Given the description of an element on the screen output the (x, y) to click on. 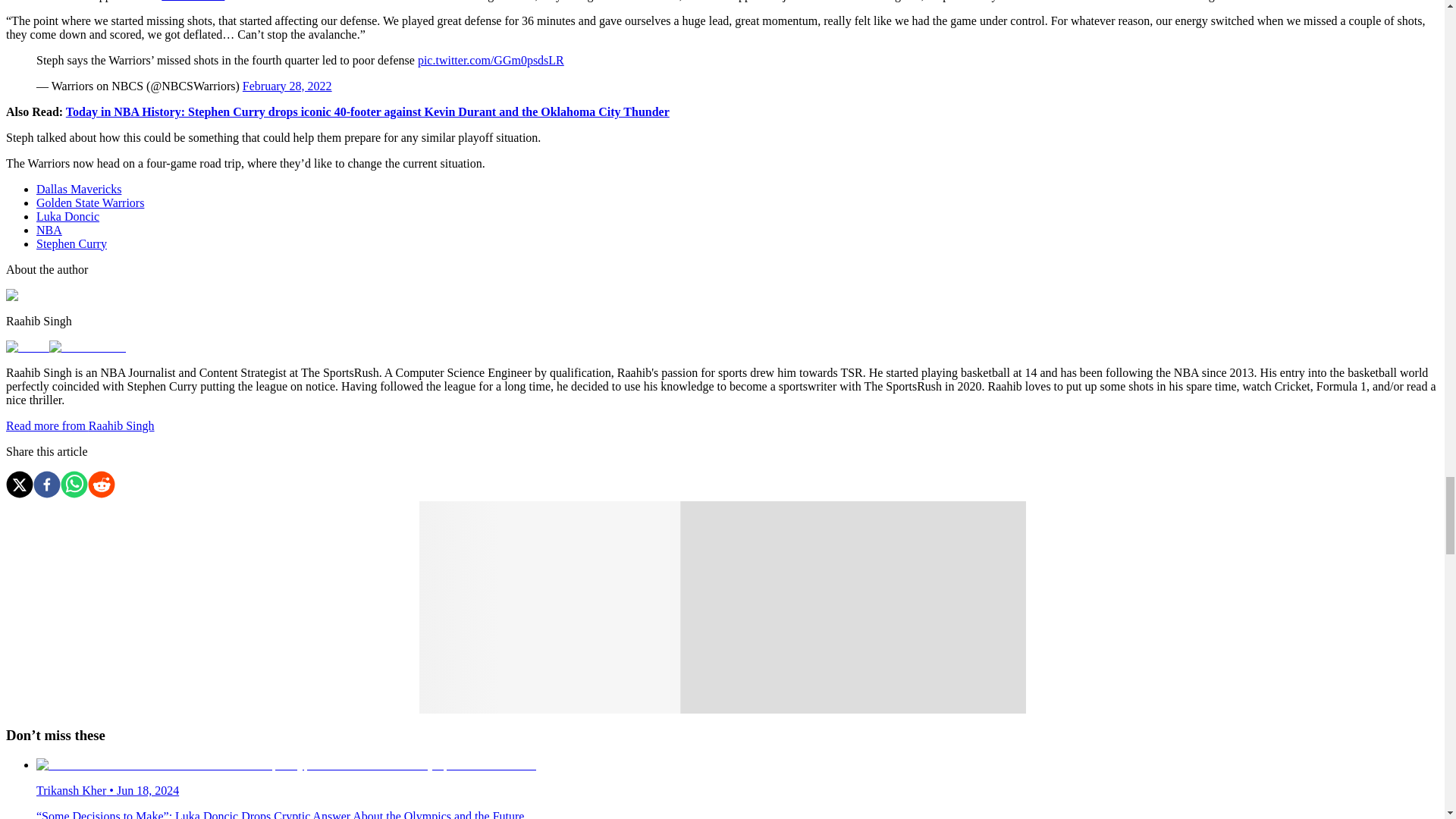
Luka Doncic (67, 215)
Golden State Warriors (90, 202)
Luka Doncic (192, 0)
Stephen Curry (71, 243)
NBA (49, 229)
Dallas Mavericks (78, 188)
Luka Doncic (67, 215)
Dallas Mavericks (78, 188)
Golden State Warriors (90, 202)
Read more from Raahib Singh (79, 425)
February 28, 2022 (287, 85)
